Given the description of an element on the screen output the (x, y) to click on. 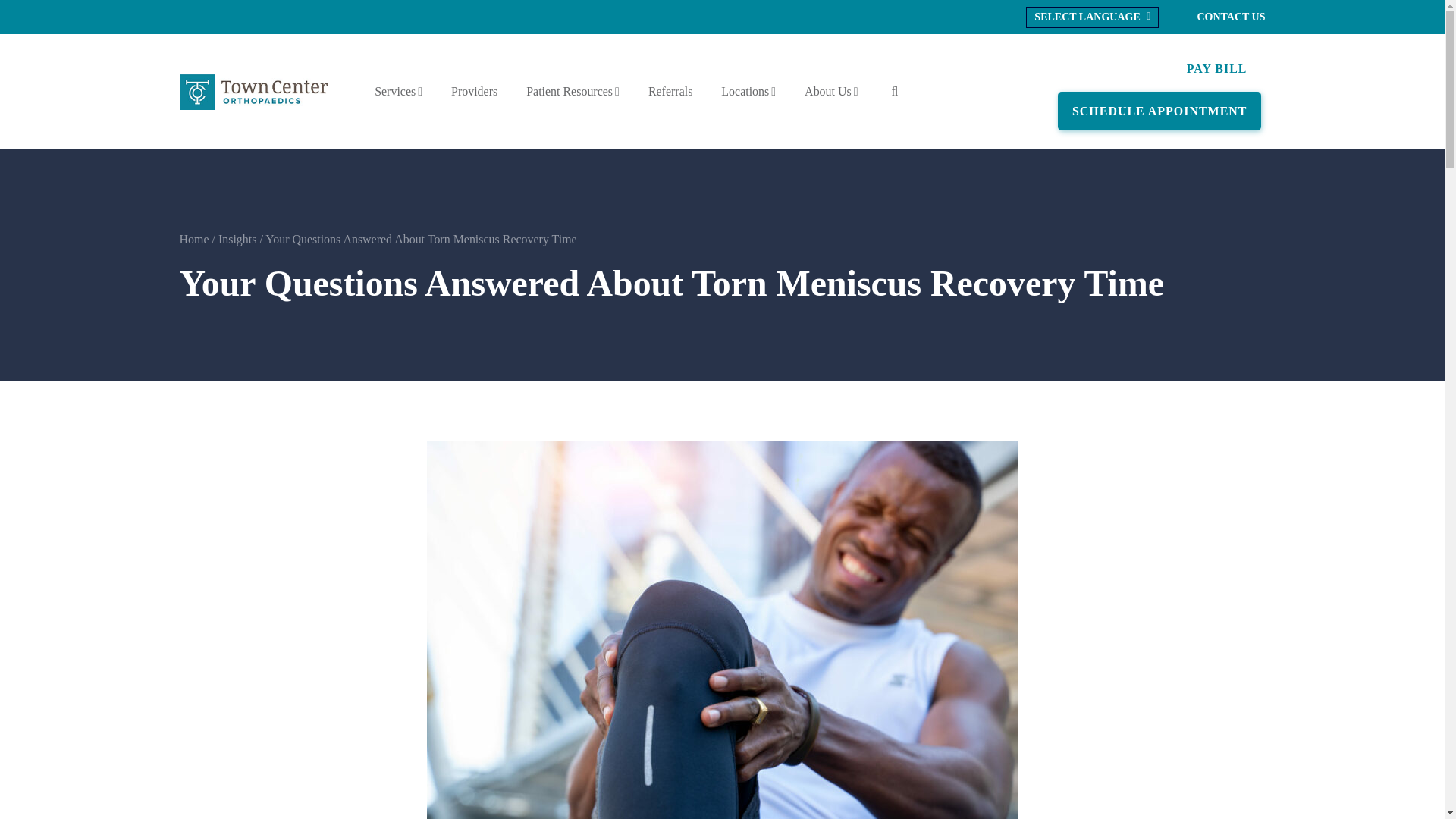
SELECT LANGUAGE (1093, 16)
CONTACT US (1230, 16)
